Given the description of an element on the screen output the (x, y) to click on. 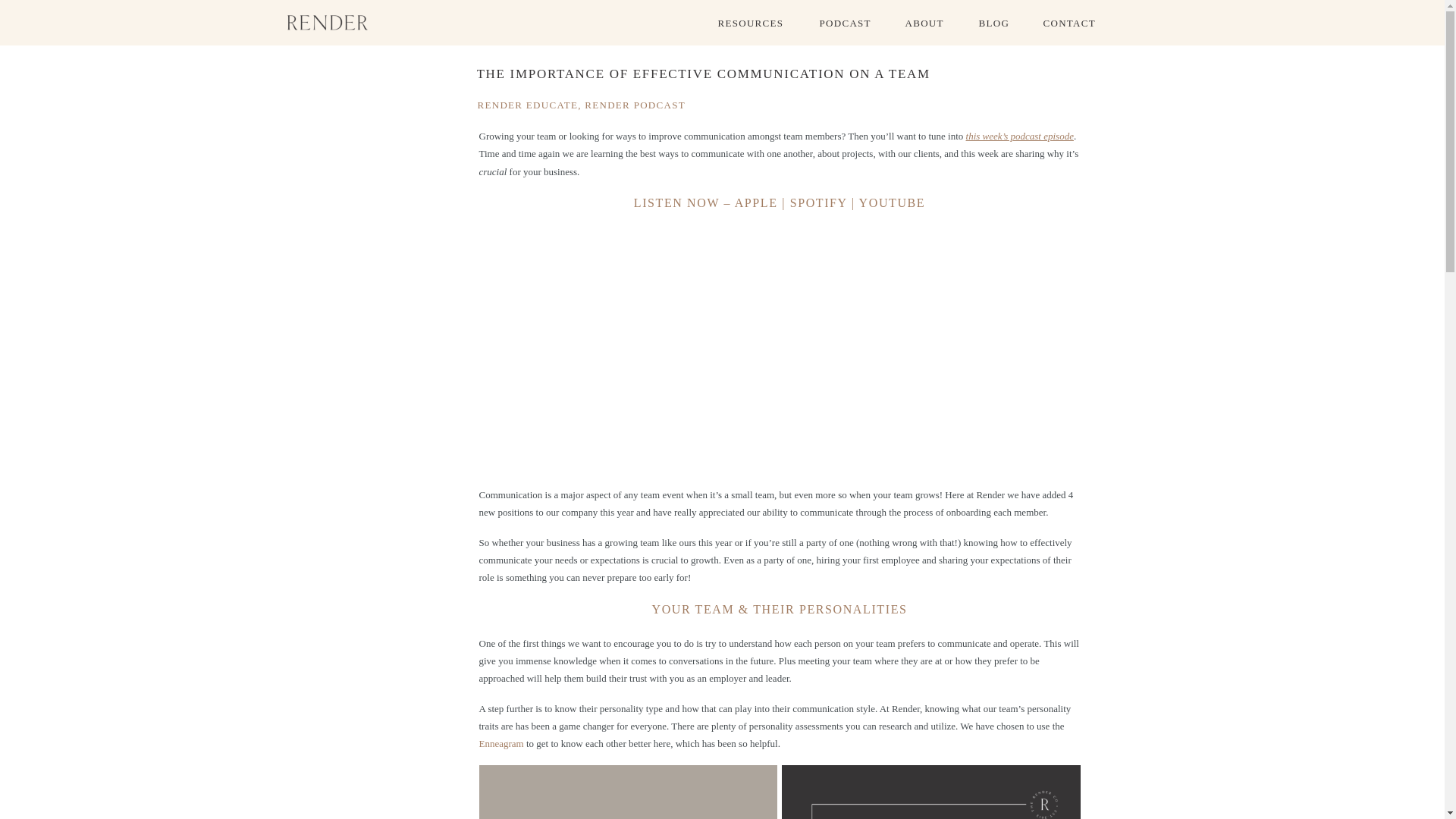
BLOG (1004, 22)
RESOURCES (756, 22)
CONTACT (1082, 22)
PODCAST (858, 22)
ABOUT (935, 22)
